Given the description of an element on the screen output the (x, y) to click on. 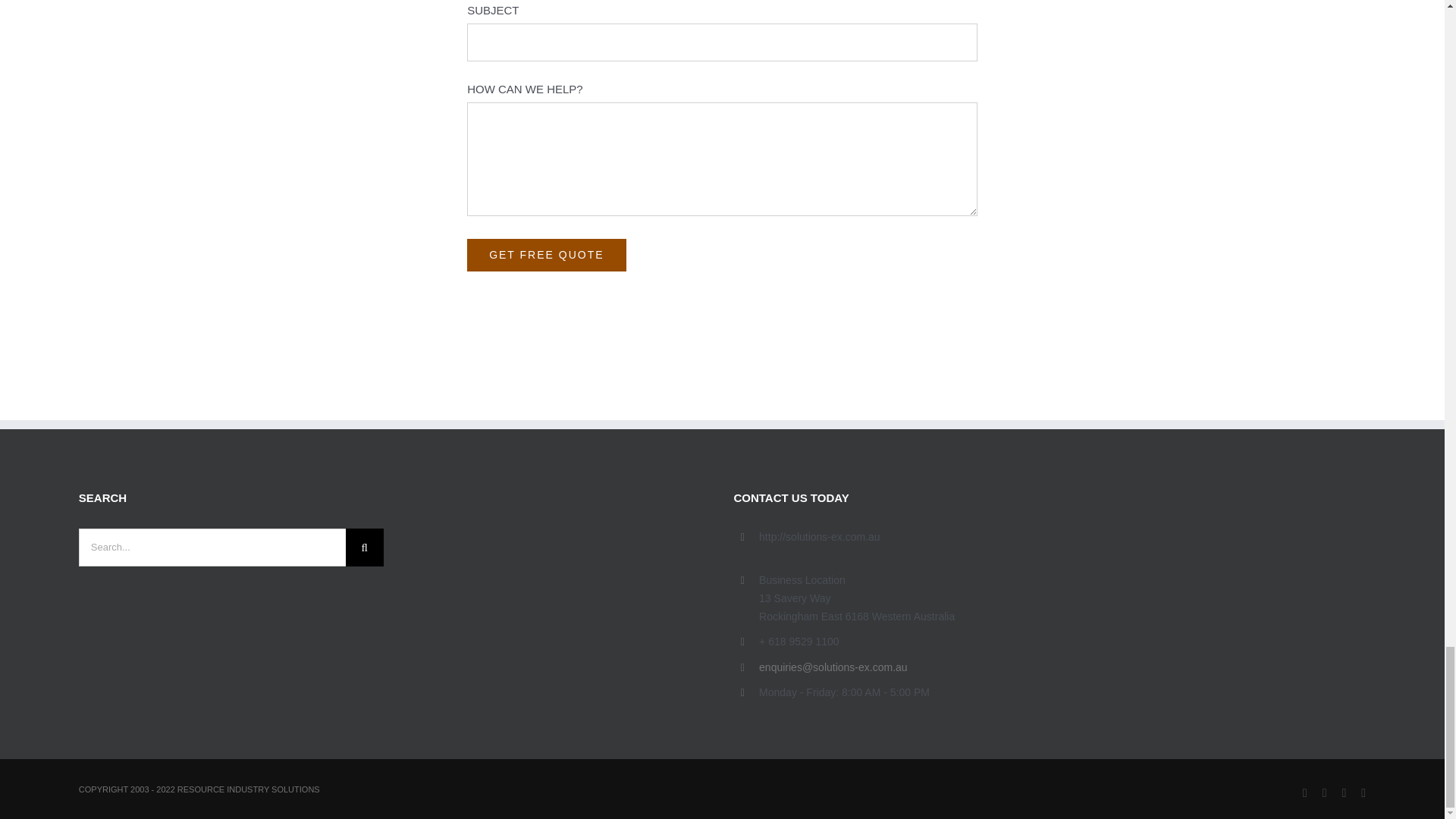
GET FREE QUOTE (546, 296)
GET FREE QUOTE (546, 296)
